Given the description of an element on the screen output the (x, y) to click on. 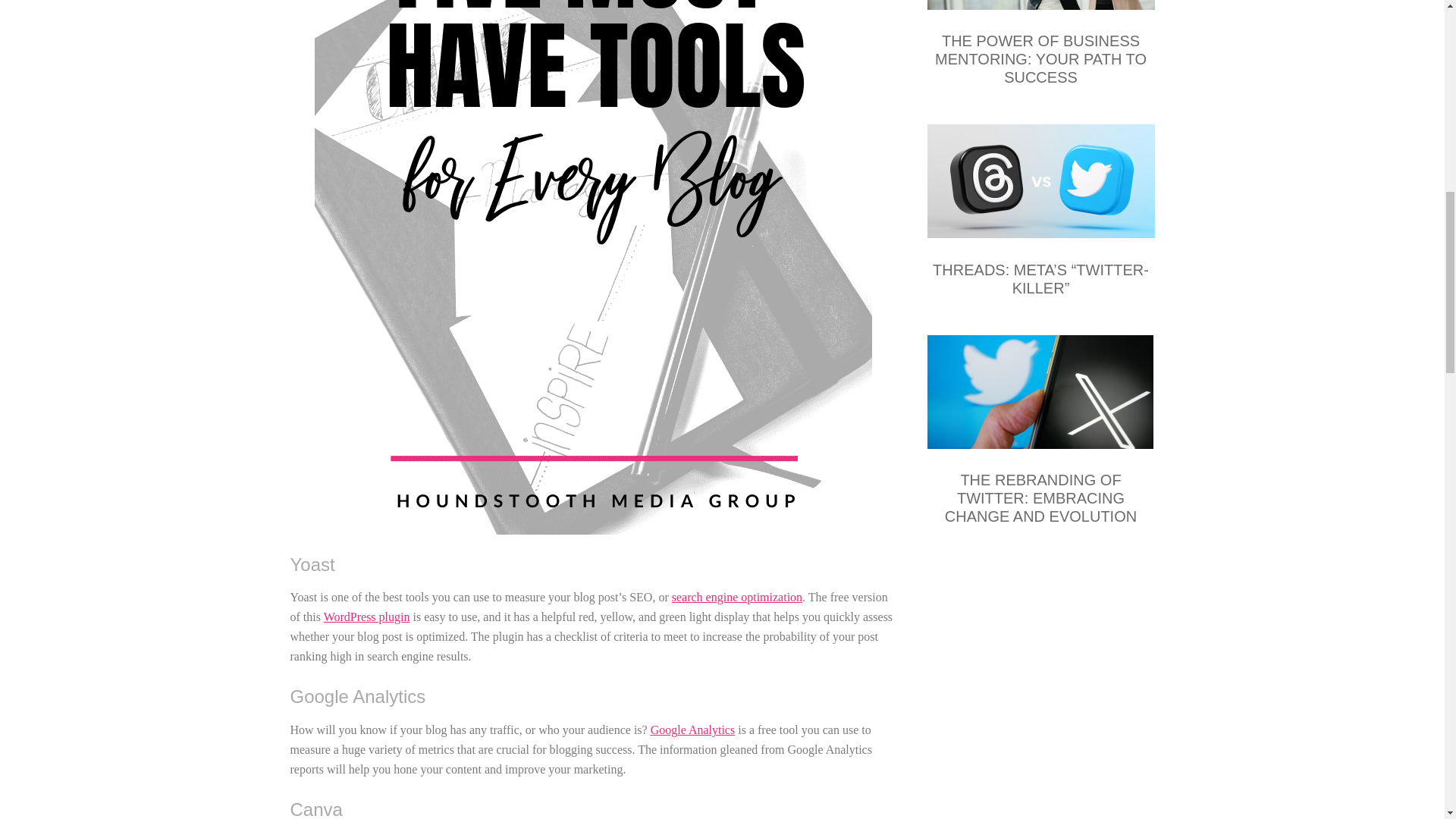
The Rebranding of Twitter: Embracing Change and Evolution (1040, 394)
The Power of Business Mentoring: Your Path to Success (1040, 7)
WordPress plugin (366, 616)
The Power of Business Mentoring: Your Path to Success (1040, 58)
search engine optimization (736, 596)
Google Analytics (692, 729)
The Rebranding of Twitter: Embracing Change and Evolution (1040, 497)
